Given the description of an element on the screen output the (x, y) to click on. 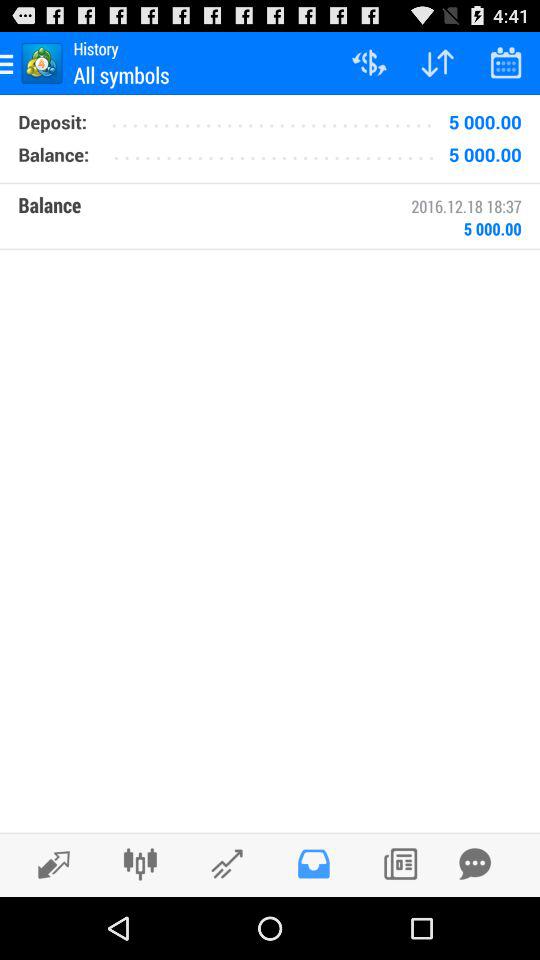
options (140, 863)
